Given the description of an element on the screen output the (x, y) to click on. 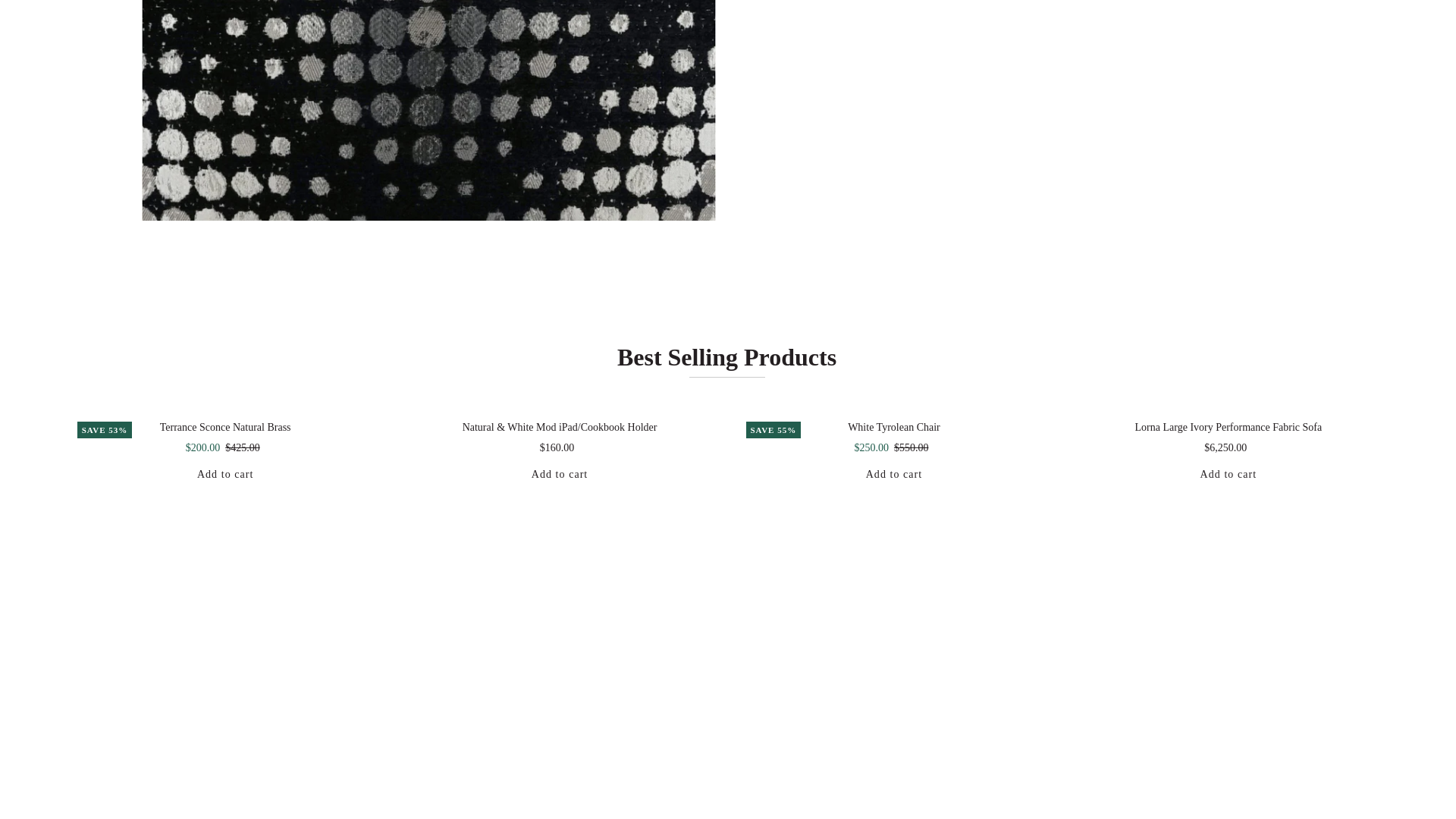
Add to cart (560, 474)
Add to cart (1228, 474)
Add to cart (225, 474)
Add to cart (893, 474)
